Given the description of an element on the screen output the (x, y) to click on. 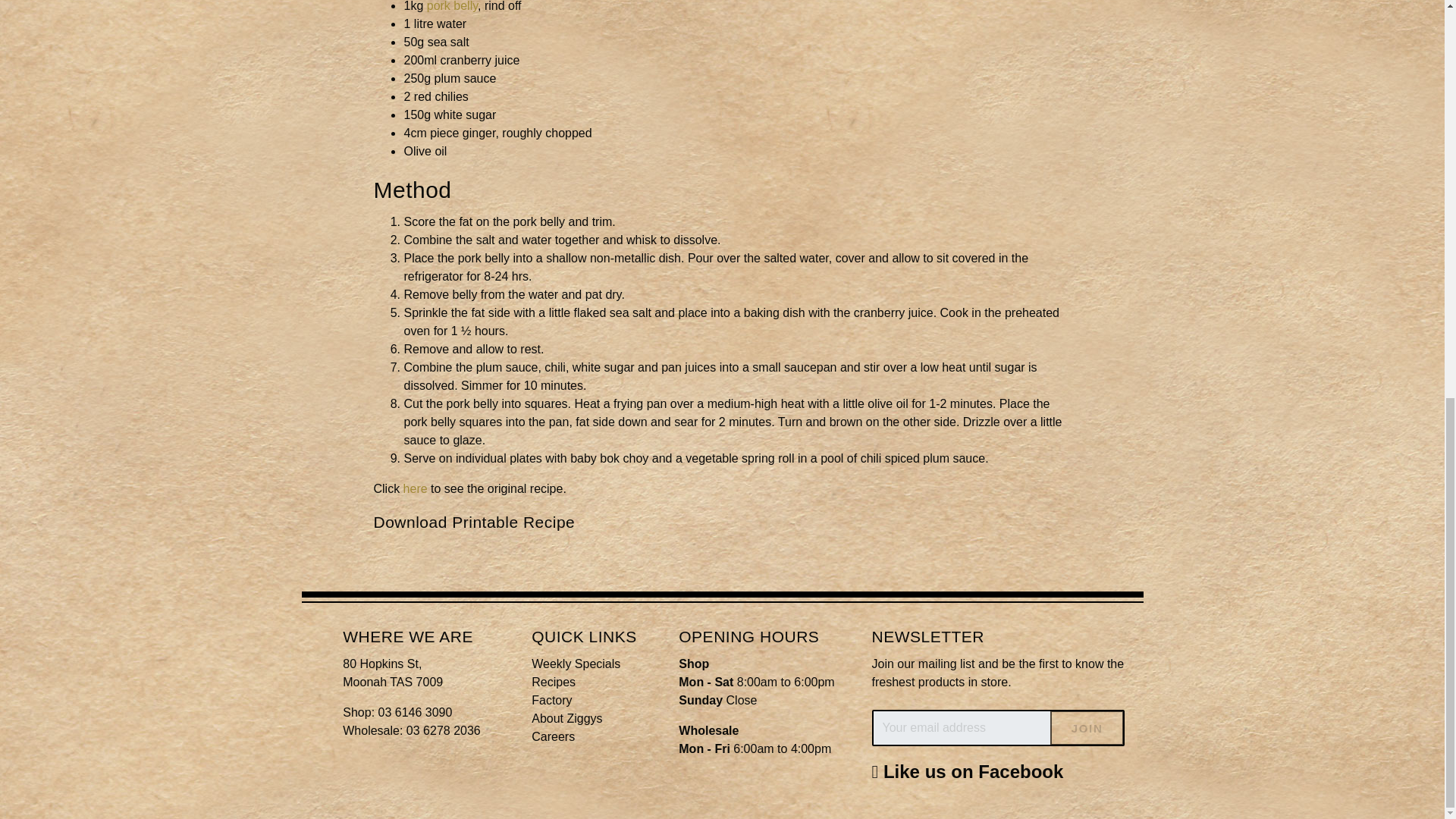
Recipes (553, 681)
Download Printable Recipe (473, 521)
Weekly Specials (575, 663)
Factory (551, 699)
here (415, 488)
pork belly (451, 6)
